Given the description of an element on the screen output the (x, y) to click on. 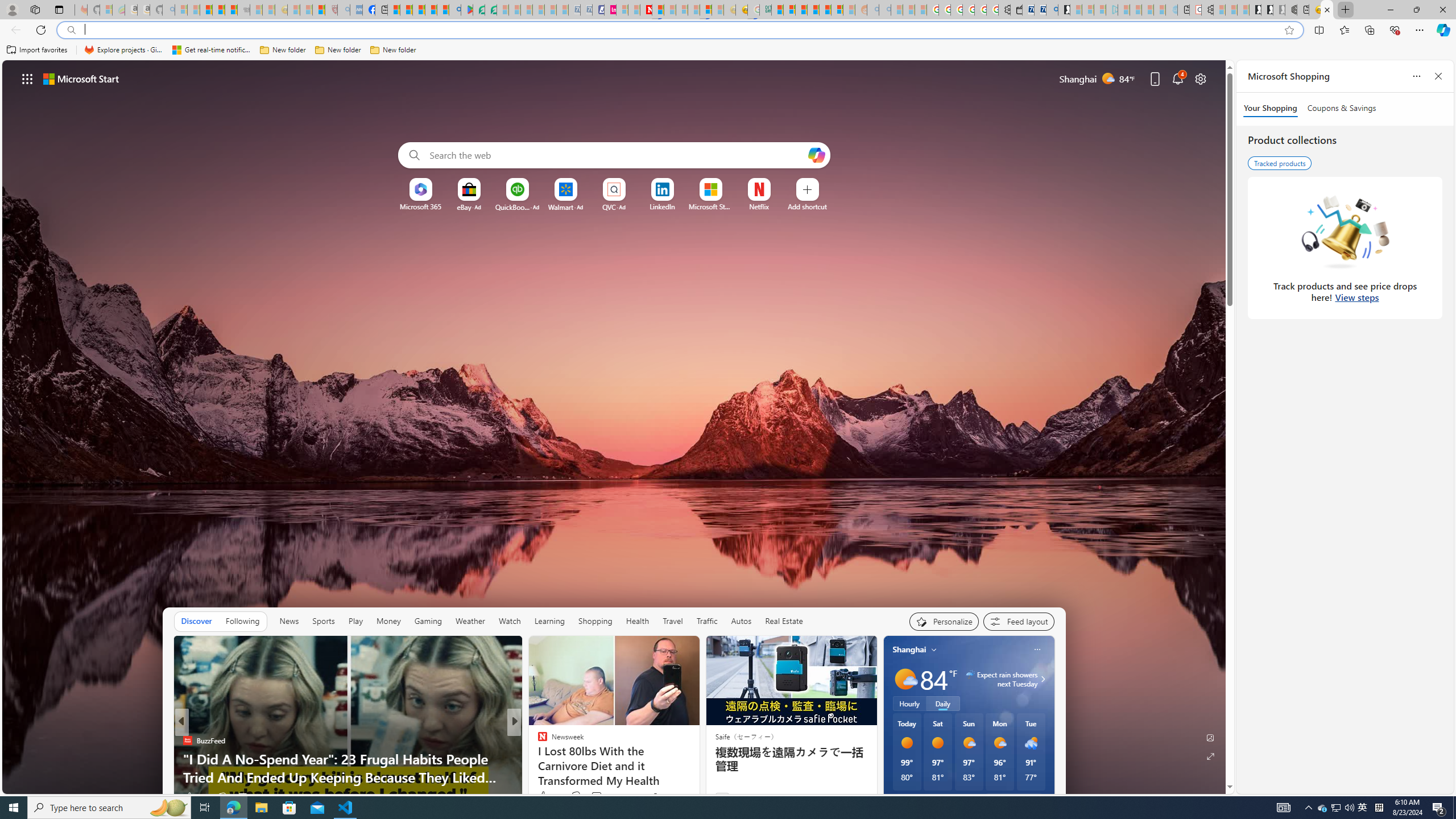
Page settings (1200, 78)
App launcher (27, 78)
BGR (537, 740)
Microsoft Word - consumer-privacy address update 2.2021 (491, 9)
6 Like (541, 796)
